Given the description of an element on the screen output the (x, y) to click on. 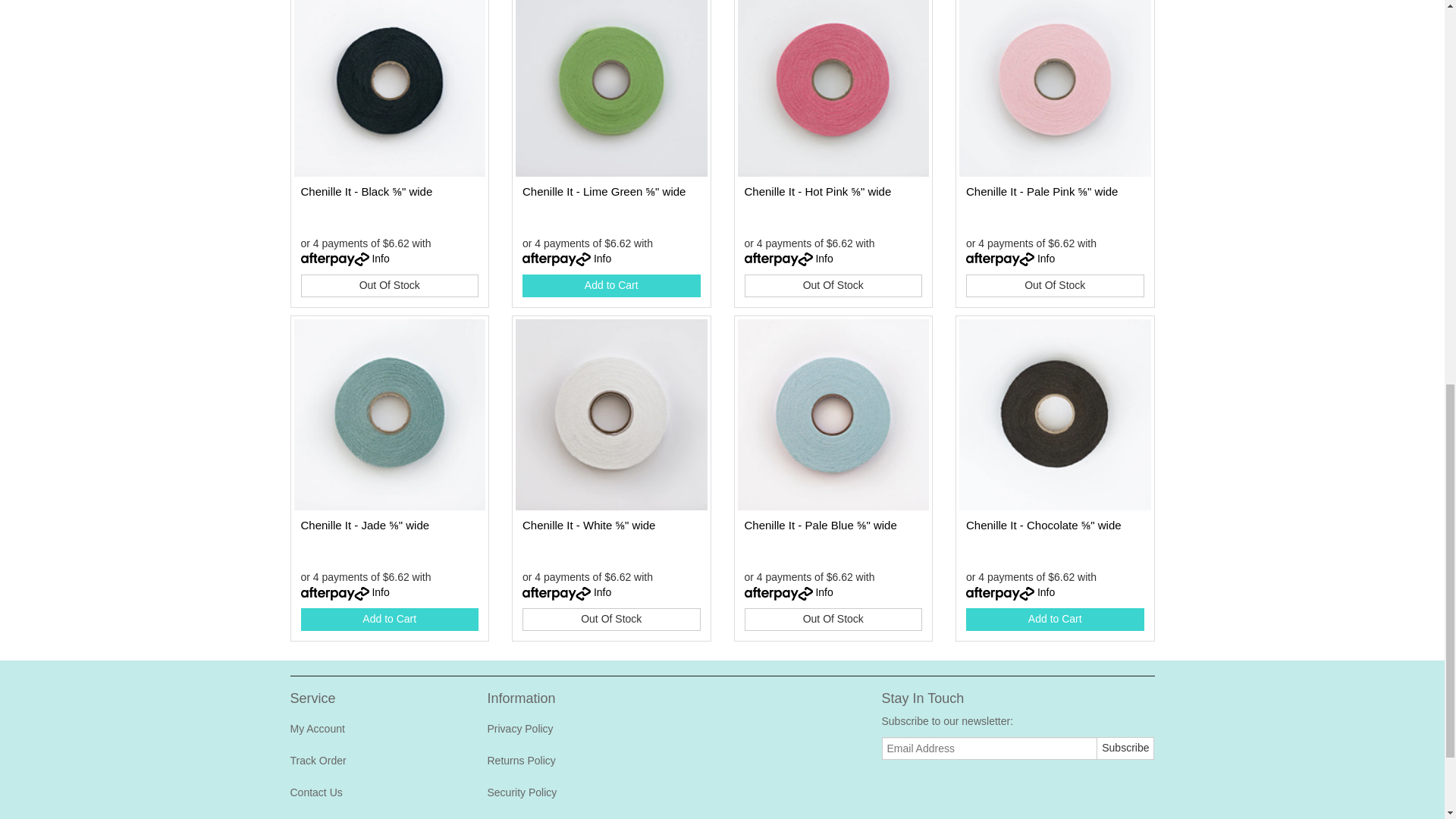
Add to Cart (389, 619)
Notify Me When Back In Stock (833, 285)
Add to Cart (611, 285)
Notify Me When Back In Stock (389, 285)
Subscribe (1125, 748)
Notify Me When Back In Stock (1055, 285)
Notify Me When Back In Stock (833, 619)
Notify Me When Back In Stock (611, 619)
